Given the description of an element on the screen output the (x, y) to click on. 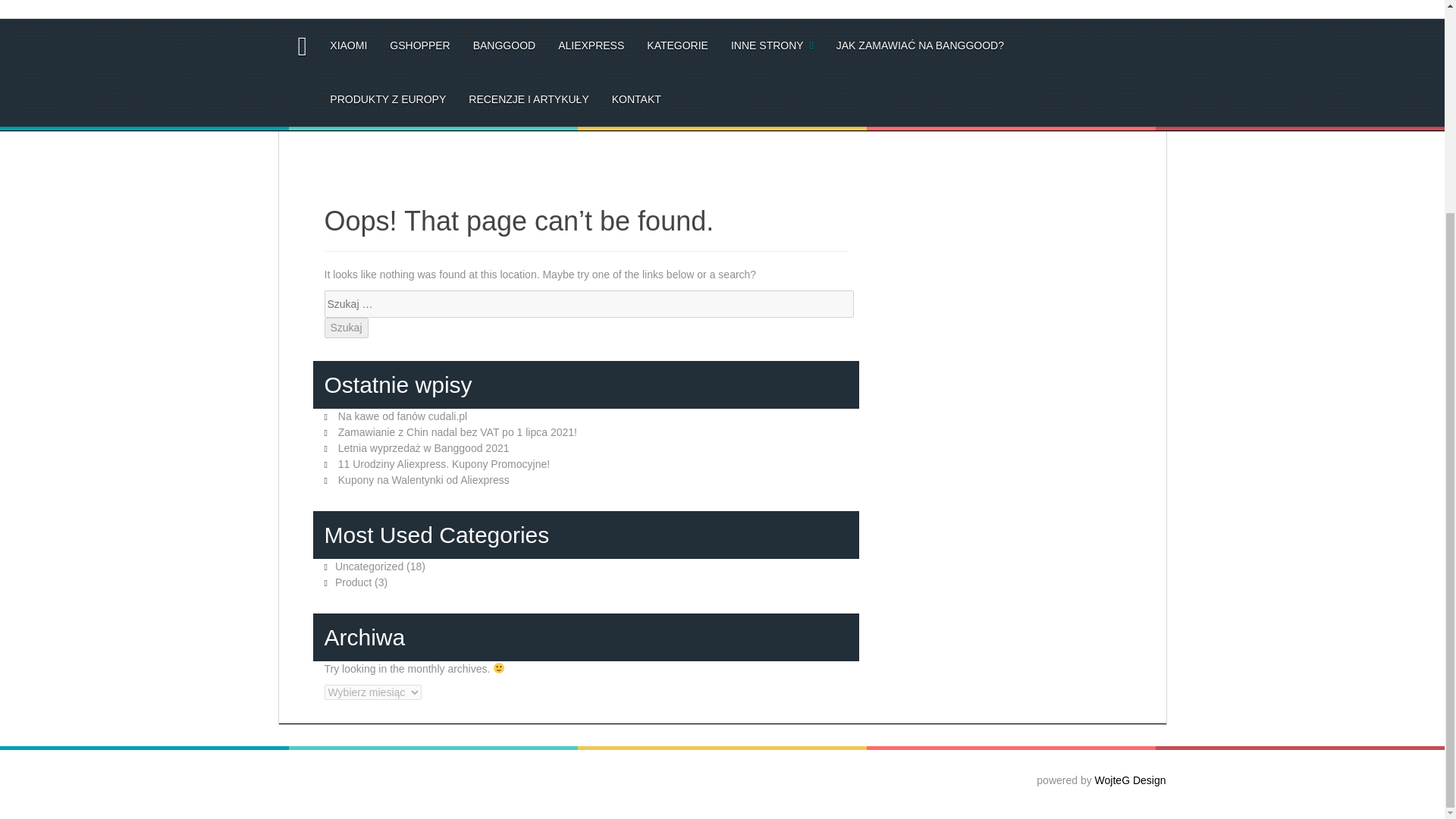
Szukaj (346, 327)
XIAOMI (348, 45)
Product (352, 582)
Szukaj (346, 327)
11 Urodziny Aliexpress. Kupony Promocyjne! (443, 463)
Szukaj (346, 327)
GSHOPPER (419, 45)
Kupony na Walentynki od Aliexpress (423, 480)
INNE STRONY (771, 45)
